Given the description of an element on the screen output the (x, y) to click on. 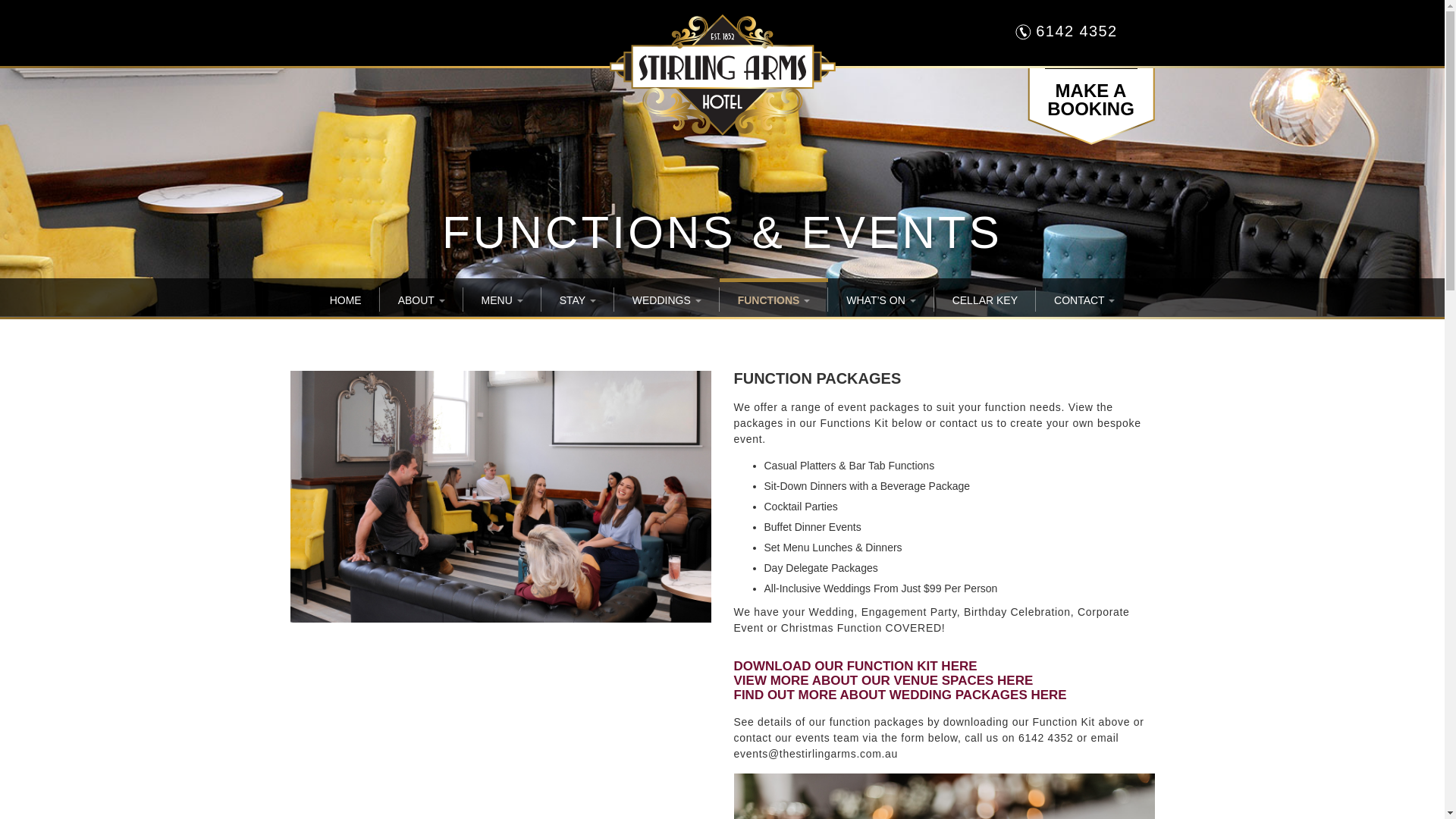
STAY (577, 298)
Stay (577, 298)
Menu (502, 298)
EAT (1091, 18)
WEDDINGS (666, 298)
About (421, 298)
MAKE A BOOKING (1090, 106)
FUNCTIONS (773, 298)
Home (345, 298)
ABOUT (421, 298)
STAY (1091, 53)
MENU (502, 298)
HOME (345, 298)
